Given the description of an element on the screen output the (x, y) to click on. 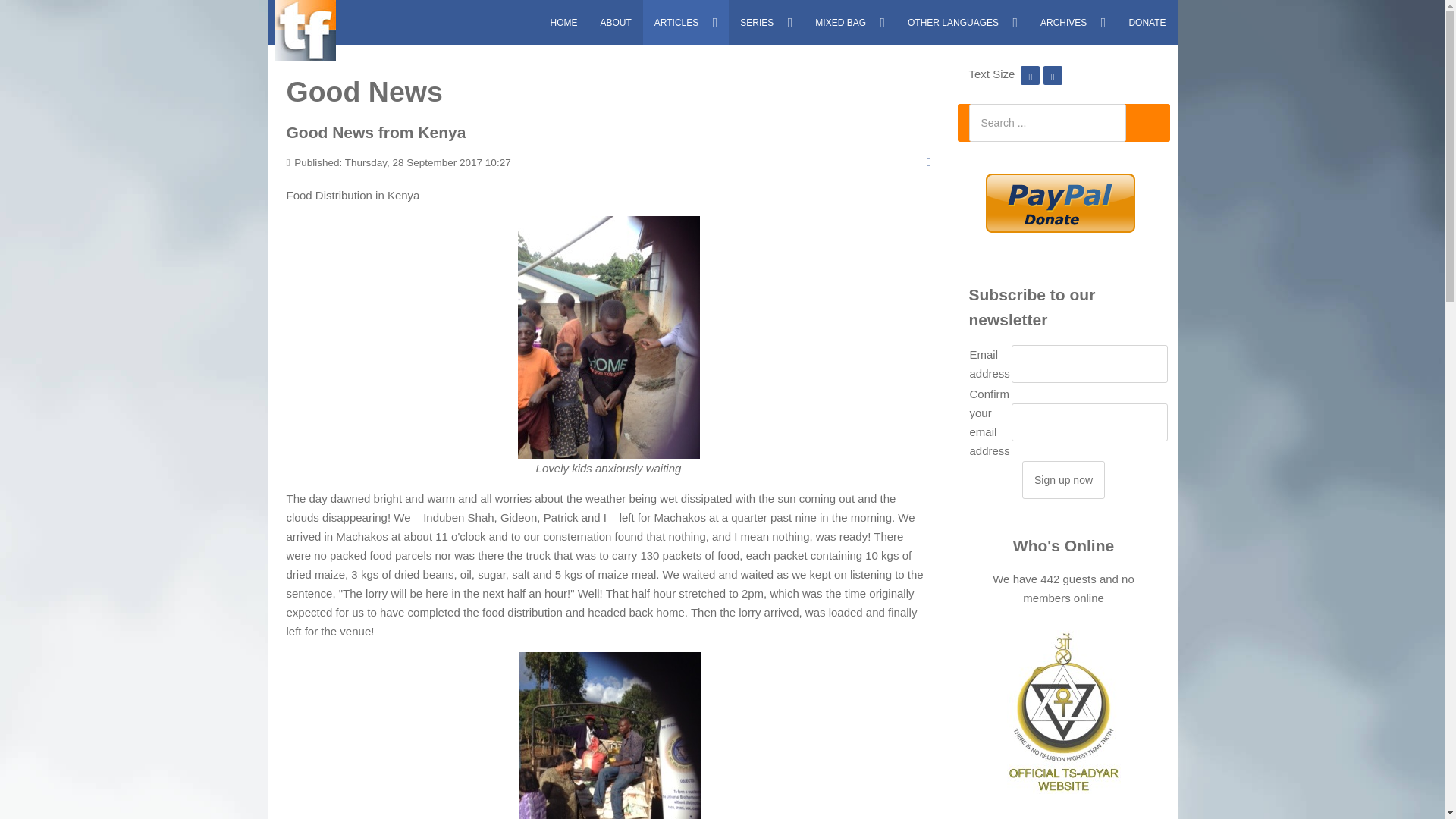
HOME (563, 22)
Sign up now (1063, 479)
ABOUT (615, 22)
MIXED BAG (849, 22)
DONATE (1146, 22)
ARTICLES (686, 22)
Decrease Font Size (1029, 73)
SERIES (766, 22)
ARCHIVES (1072, 22)
Sign up now (1063, 479)
Increase Font Size (1052, 73)
OTHER LANGUAGES (962, 22)
